Given the description of an element on the screen output the (x, y) to click on. 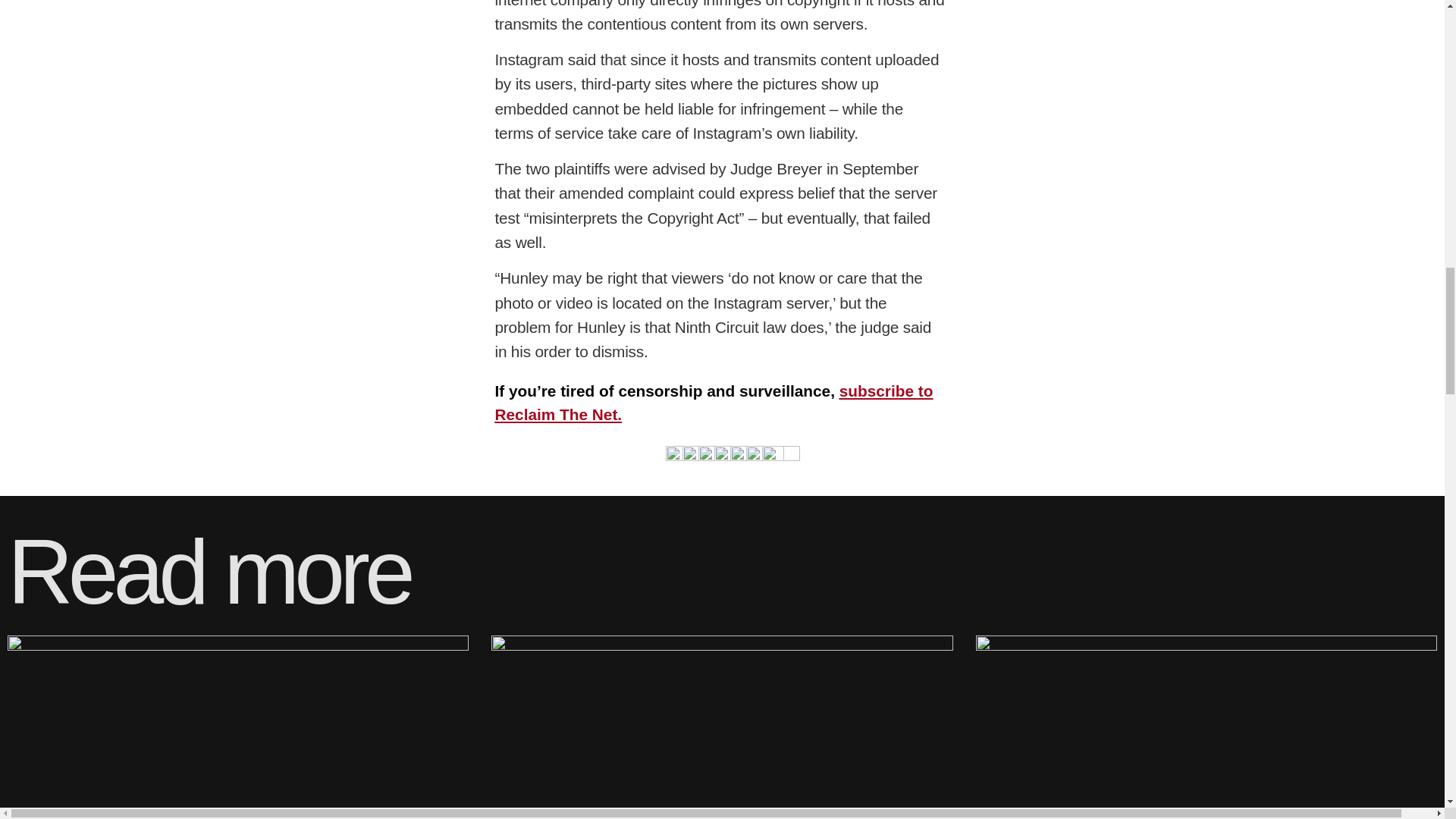
subscribe to Reclaim The Net. (714, 402)
